Given the description of an element on the screen output the (x, y) to click on. 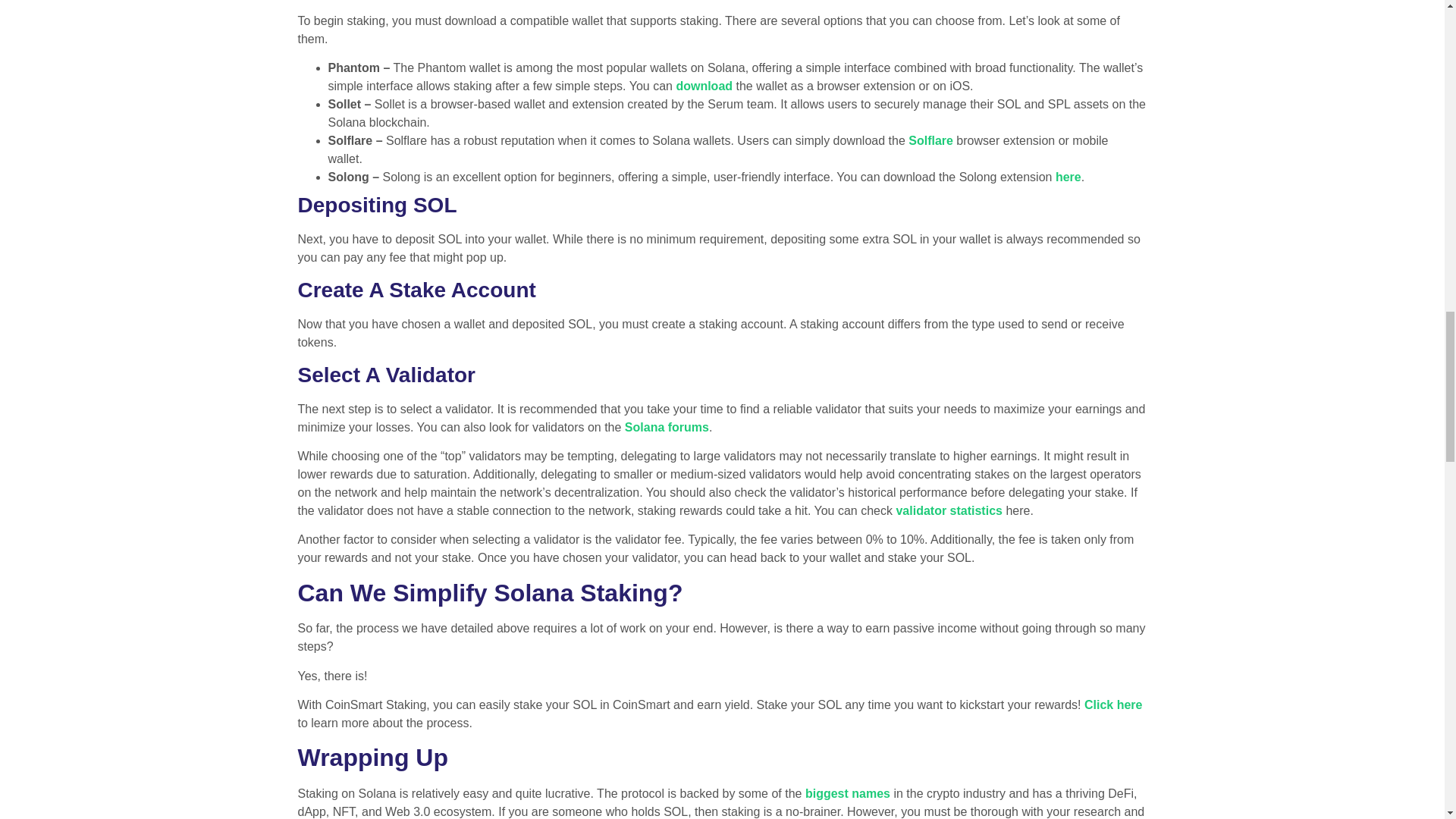
Solflare (930, 140)
here (1068, 176)
validator statistics (949, 510)
Solana forums (666, 427)
download (703, 85)
biggest names (847, 793)
Click here (1112, 704)
